Given the description of an element on the screen output the (x, y) to click on. 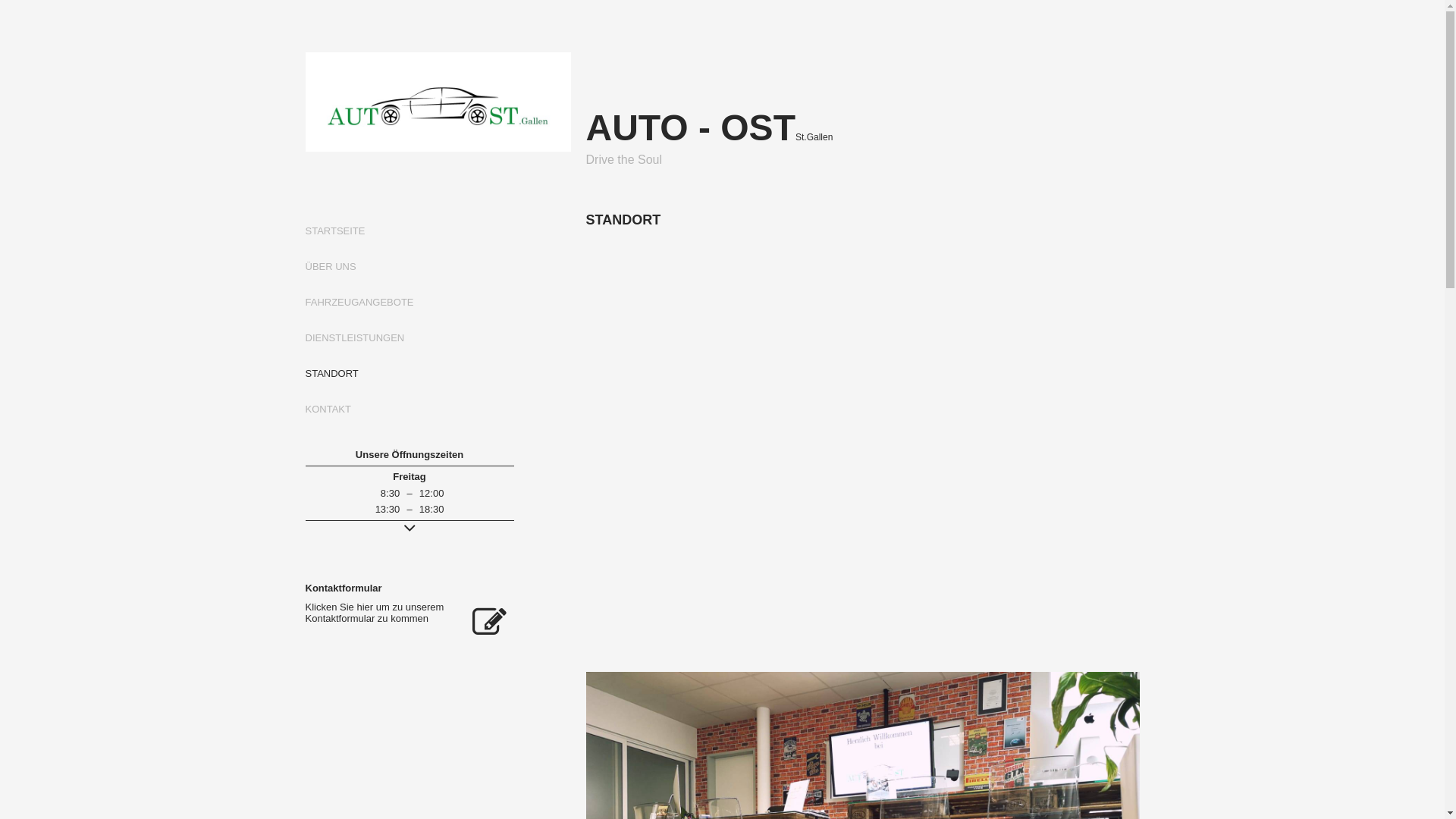
KONTAKT Element type: text (327, 408)
FAHRZEUGANGEBOTE Element type: text (358, 301)
STANDORT Element type: text (330, 373)
STARTSEITE Element type: text (334, 230)
DIENSTLEISTUNGEN Element type: text (354, 337)
